Given the description of an element on the screen output the (x, y) to click on. 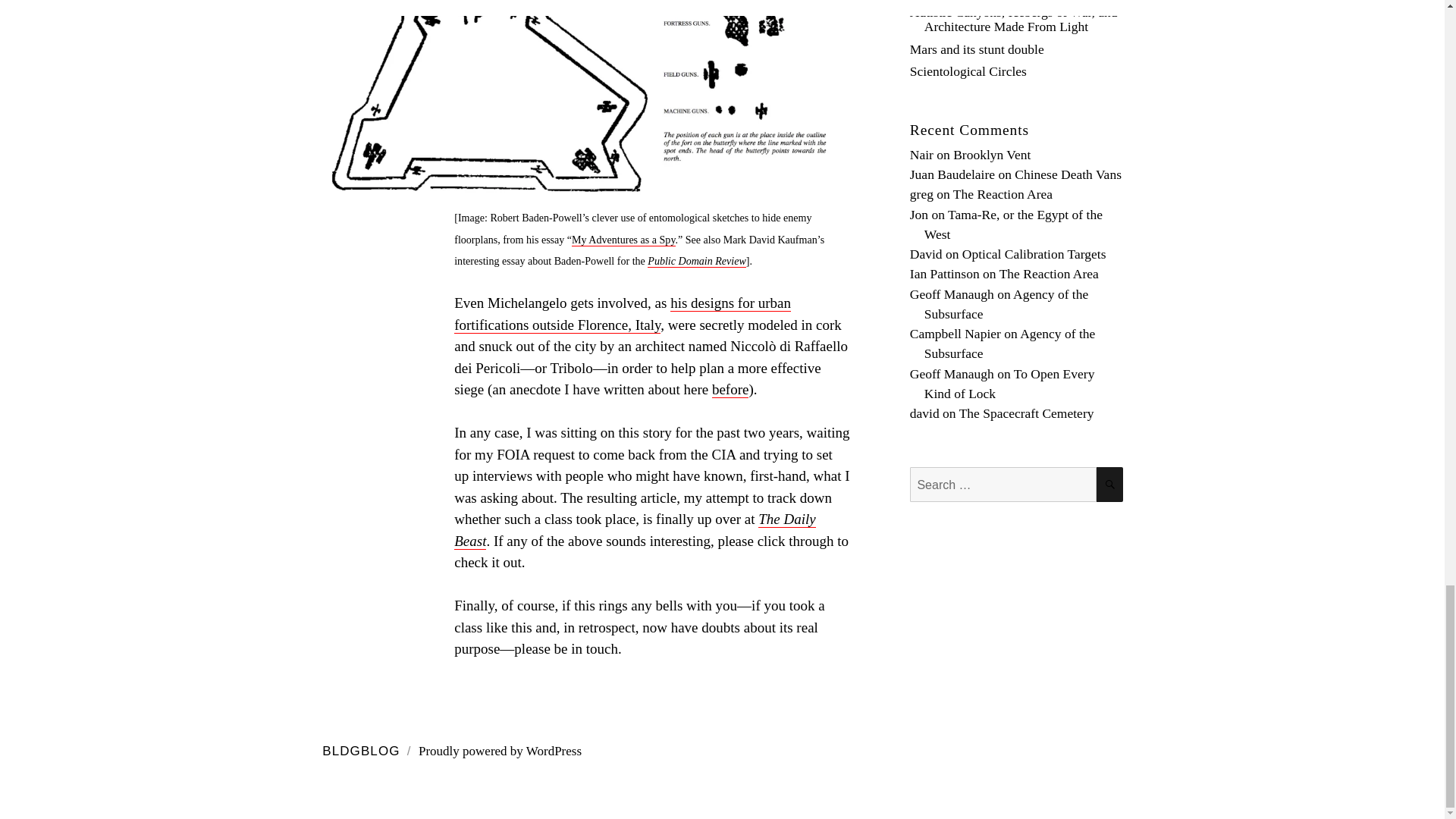
Public Domain Review (696, 260)
before (730, 389)
his designs for urban fortifications outside Florence, Italy (622, 313)
My Adventures as a Spy (623, 239)
The Daily Beast (634, 530)
